Given the description of an element on the screen output the (x, y) to click on. 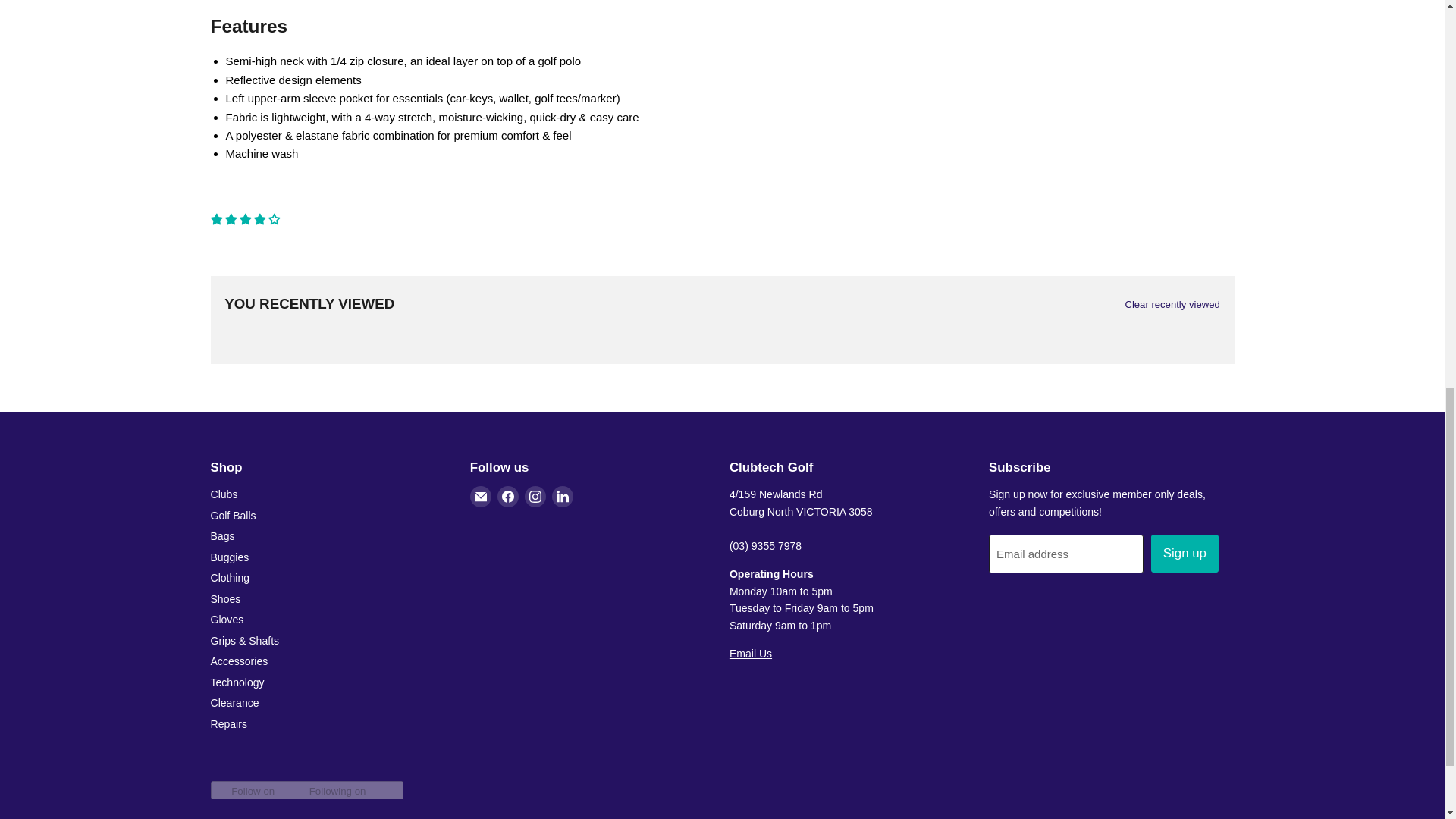
LinkedIn (562, 496)
Facebook (507, 496)
Email Clubtech Golf (750, 653)
Email (481, 496)
Instagram (535, 496)
